Given the description of an element on the screen output the (x, y) to click on. 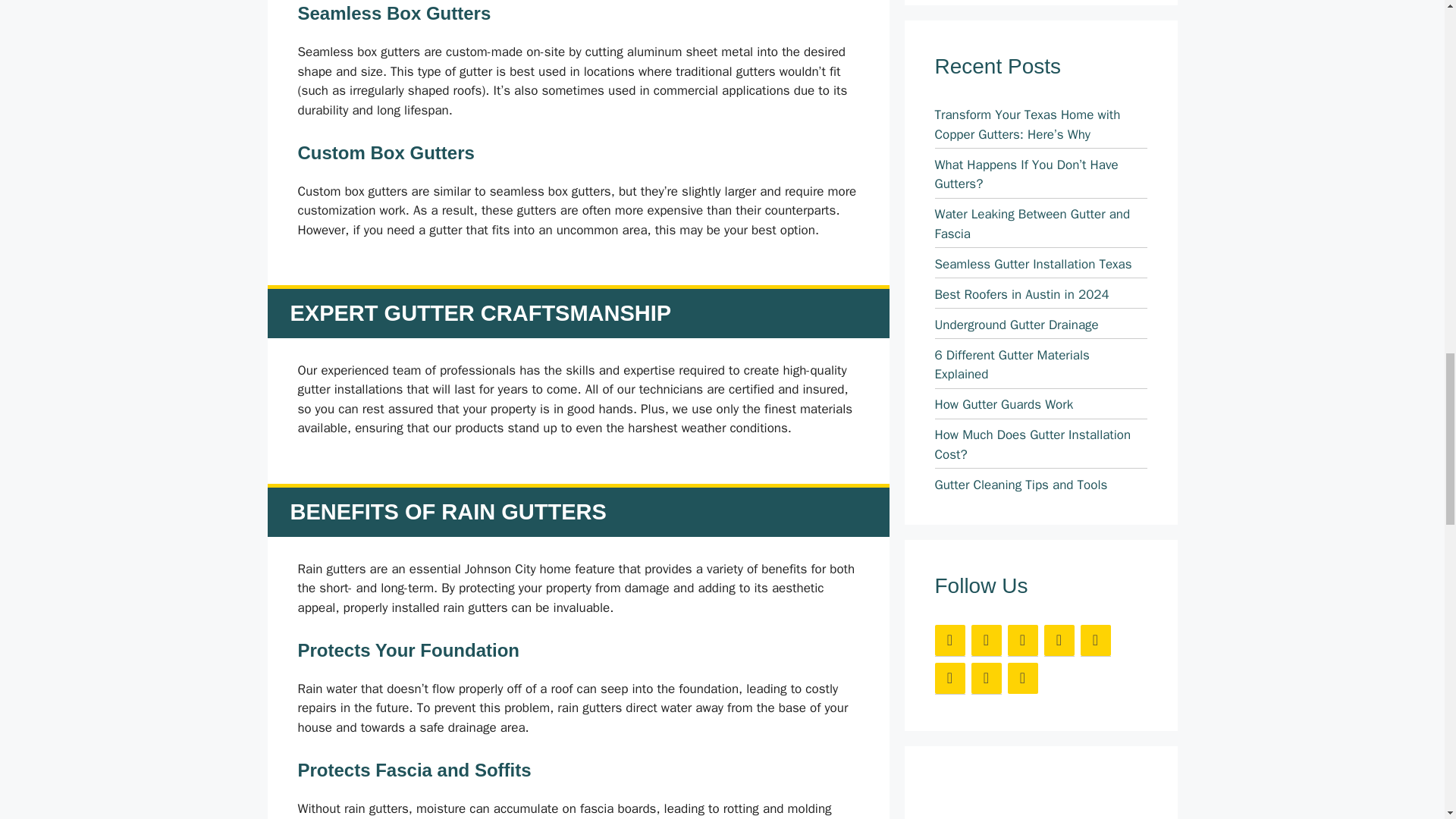
LinkedIn (1058, 640)
Houzz (986, 677)
Facebook (948, 640)
Twitter (986, 640)
Instagram (1021, 677)
Flickr (948, 677)
YouTube (1094, 640)
